Given the description of an element on the screen output the (x, y) to click on. 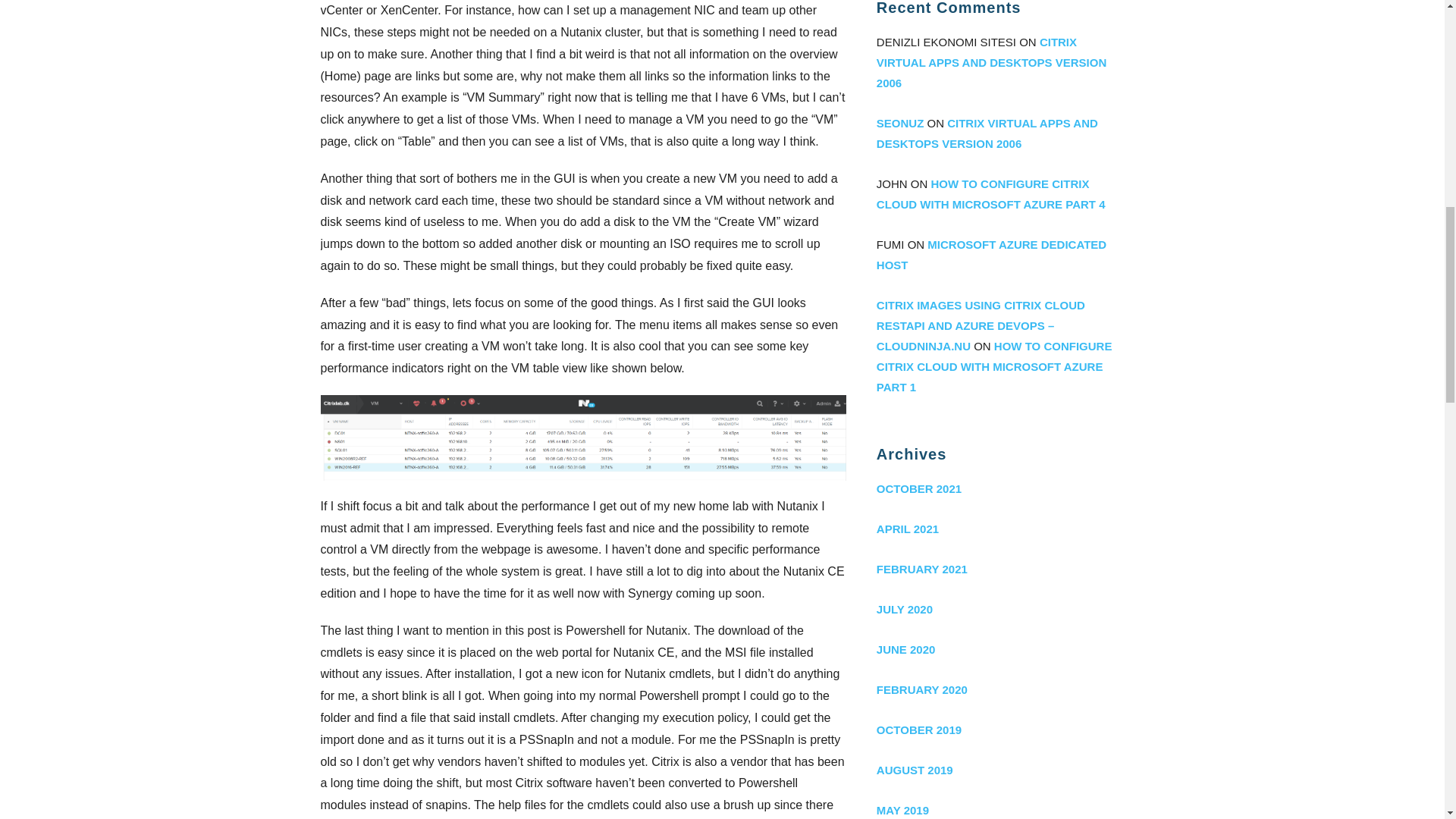
FEBRUARY 2021 (1000, 568)
APRIL 2021 (1000, 528)
HOW TO CONFIGURE CITRIX CLOUD WITH MICROSOFT AZURE PART 1 (994, 366)
JUNE 2020 (1000, 649)
CITRIX VIRTUAL APPS AND DESKTOPS VERSION 2006 (986, 133)
SEONUZ (900, 123)
MICROSOFT AZURE DEDICATED HOST (991, 254)
HOW TO CONFIGURE CITRIX CLOUD WITH MICROSOFT AZURE PART 4 (990, 193)
JULY 2020 (1000, 608)
OCTOBER 2021 (1000, 488)
CITRIX VIRTUAL APPS AND DESKTOPS VERSION 2006 (991, 62)
